Given the description of an element on the screen output the (x, y) to click on. 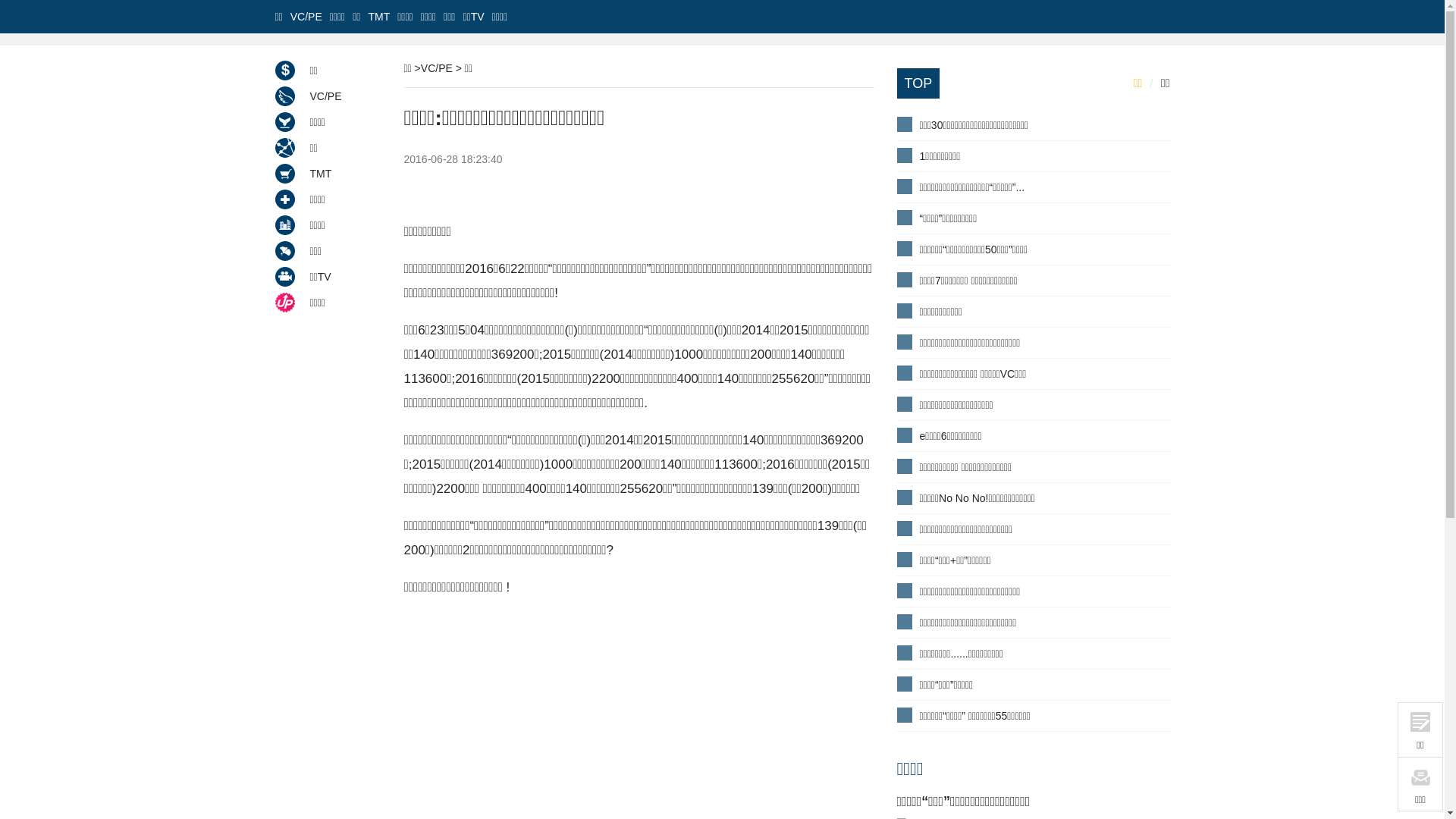
VC/PE Element type: text (306, 16)
VC/PE Element type: text (327, 96)
TMT Element type: text (327, 173)
VC/PE Element type: text (436, 68)
TMT Element type: text (378, 16)
